Given the description of an element on the screen output the (x, y) to click on. 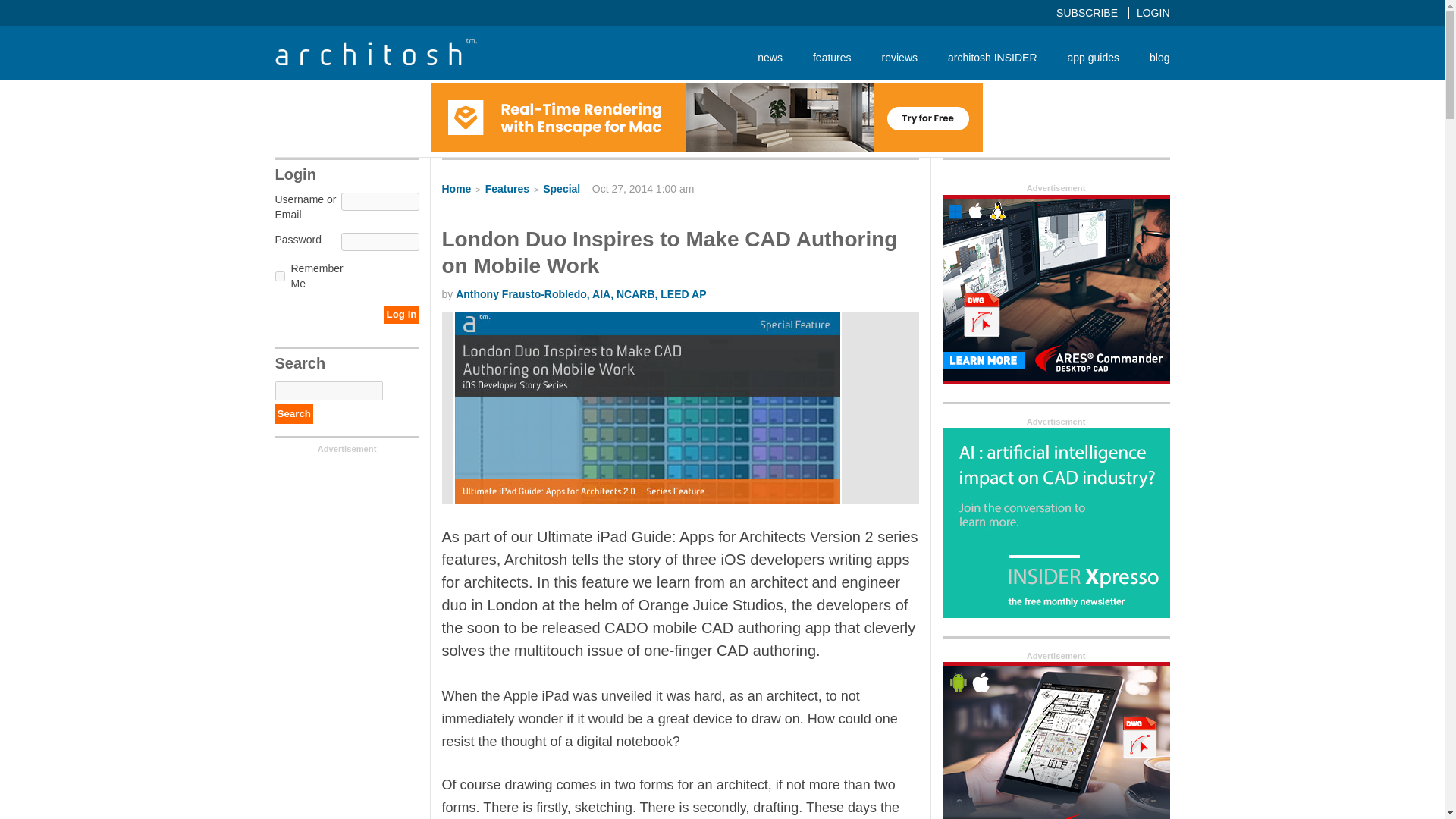
app guides (1093, 56)
forever (279, 276)
Posts by Anthony Frausto-Robledo, AIA, NCARB, LEED AP (580, 294)
blog (1151, 56)
Search (294, 414)
features (831, 56)
reviews (899, 56)
Anthony Frausto-Robledo, AIA, NCARB, LEED AP (580, 294)
Architosh (375, 51)
LOGIN (1153, 12)
news (769, 56)
Features (506, 188)
architosh INSIDER (992, 56)
London Duo Inspires to Make CAD Authoring on Mobile Work (668, 252)
